Given the description of an element on the screen output the (x, y) to click on. 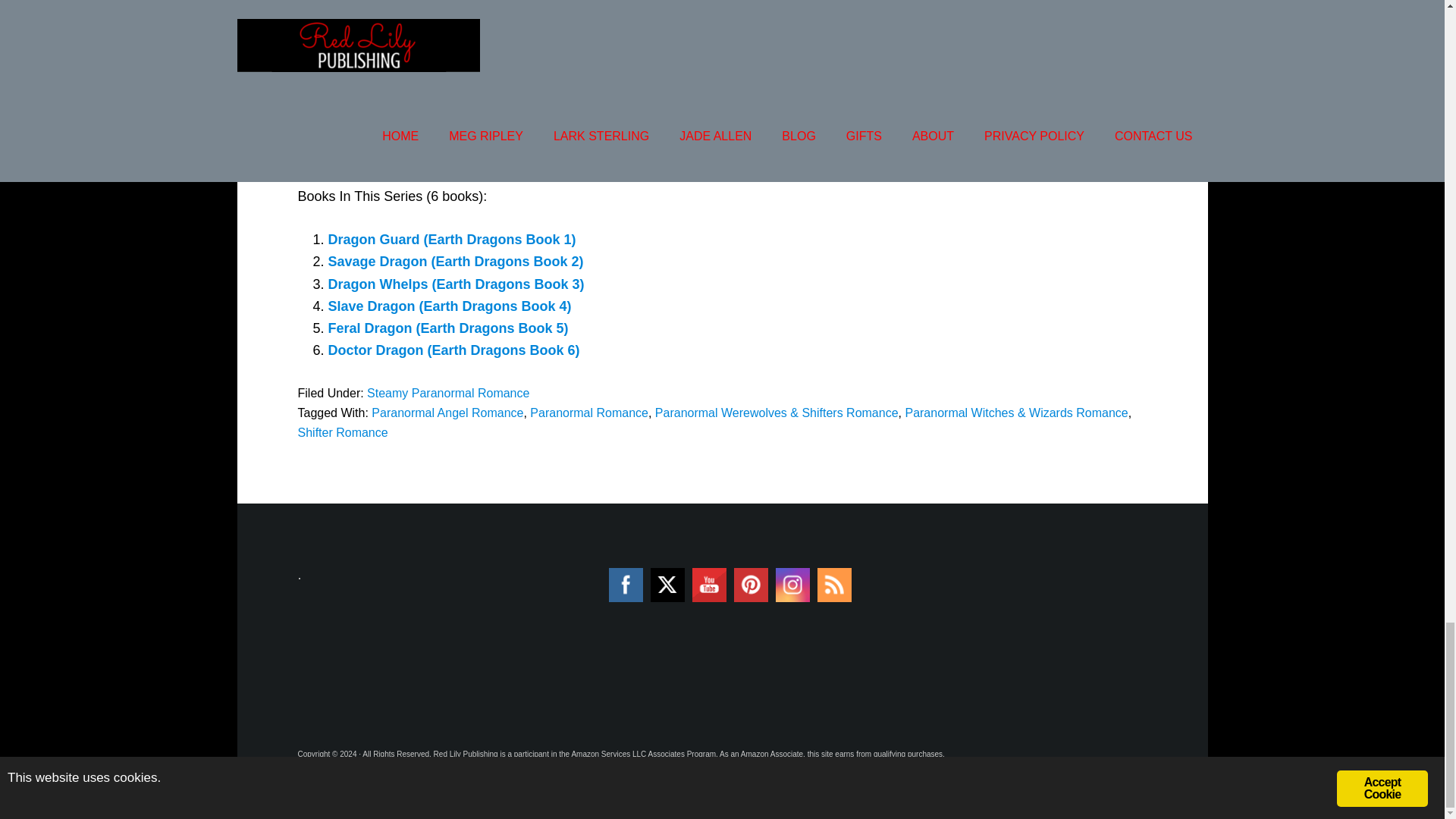
YOUTUBE (709, 584)
Facebook (624, 584)
RSS (834, 584)
Twitter (667, 584)
Pinterest (750, 584)
INSTAGRAM (792, 584)
